Given the description of an element on the screen output the (x, y) to click on. 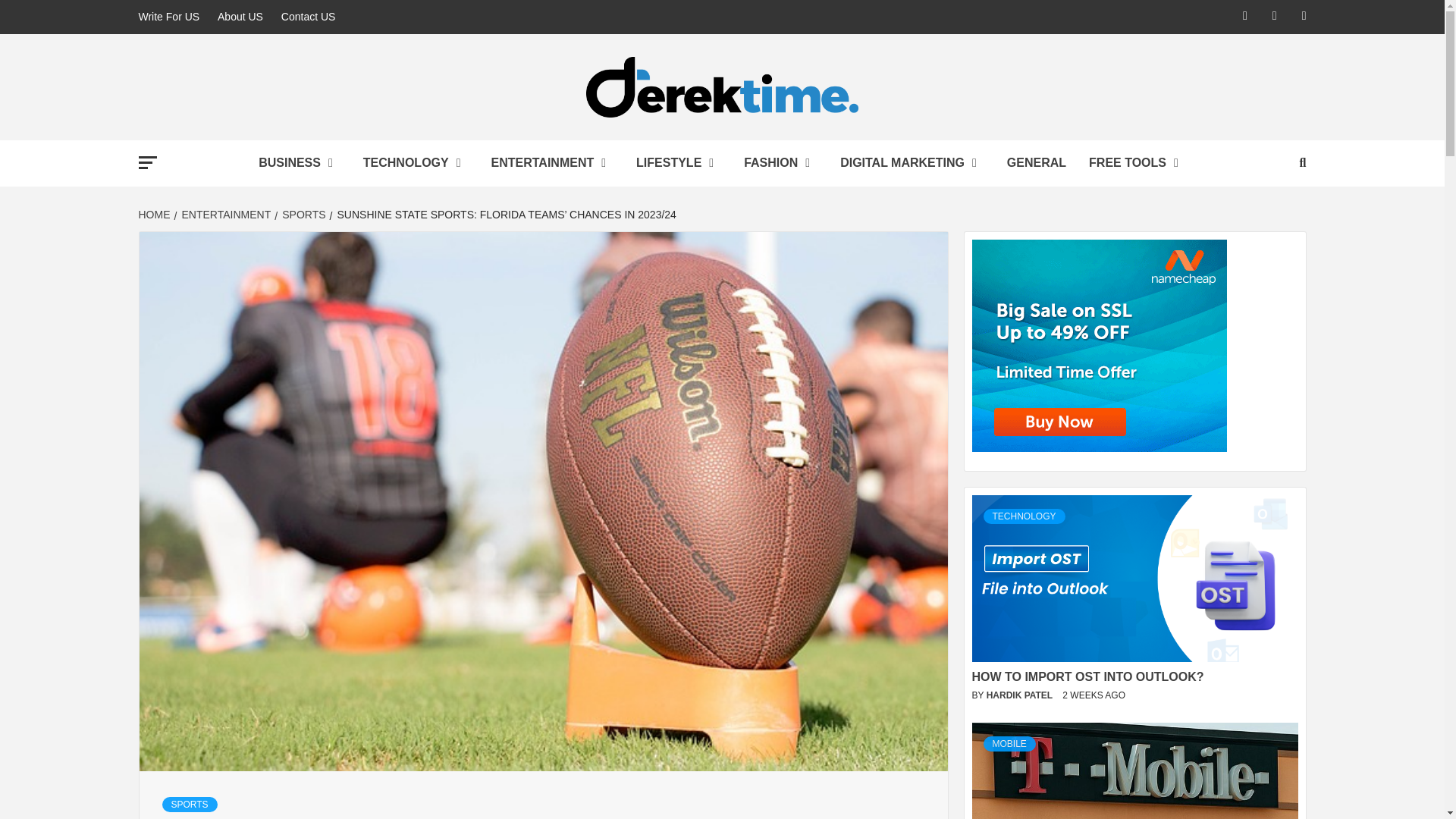
About US (239, 17)
ENTERTAINMENT (553, 163)
LIFESTYLE (678, 163)
TECHNOLOGY (416, 163)
Write For US (172, 17)
BUSINESS (299, 163)
Contact US (308, 17)
DEREK TIME (375, 155)
